Given the description of an element on the screen output the (x, y) to click on. 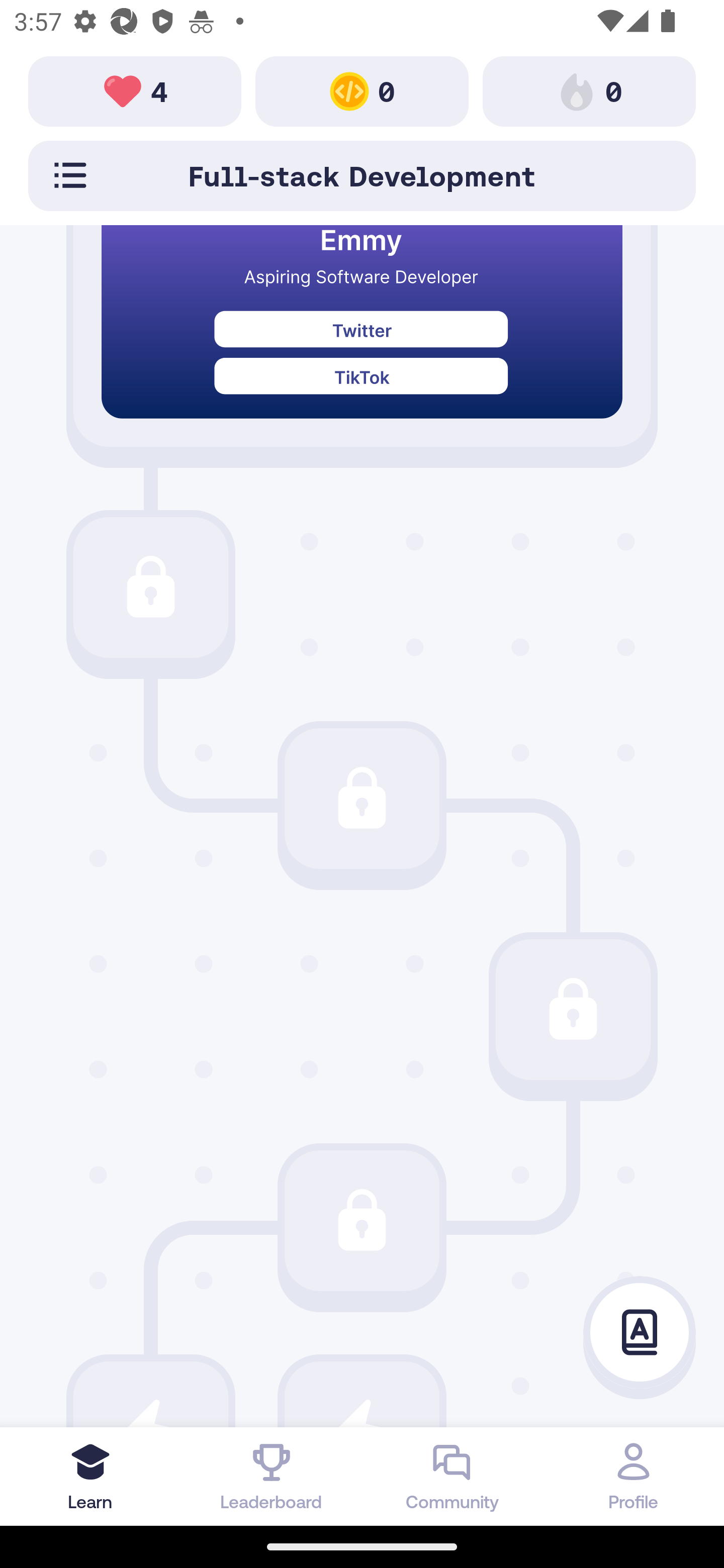
Path Toolbar Image 4 (134, 90)
Path Toolbar Image 0 (361, 90)
Path Toolbar Image 0 (588, 90)
Path Toolbar Selector Full-stack Development (361, 175)
preview image (361, 335)
Path Icon (150, 587)
Path Icon (361, 797)
Path Icon (572, 1009)
Path Icon (361, 1220)
Glossary Icon (639, 1332)
Leaderboard (271, 1475)
Community (452, 1475)
Profile (633, 1475)
